Given the description of an element on the screen output the (x, y) to click on. 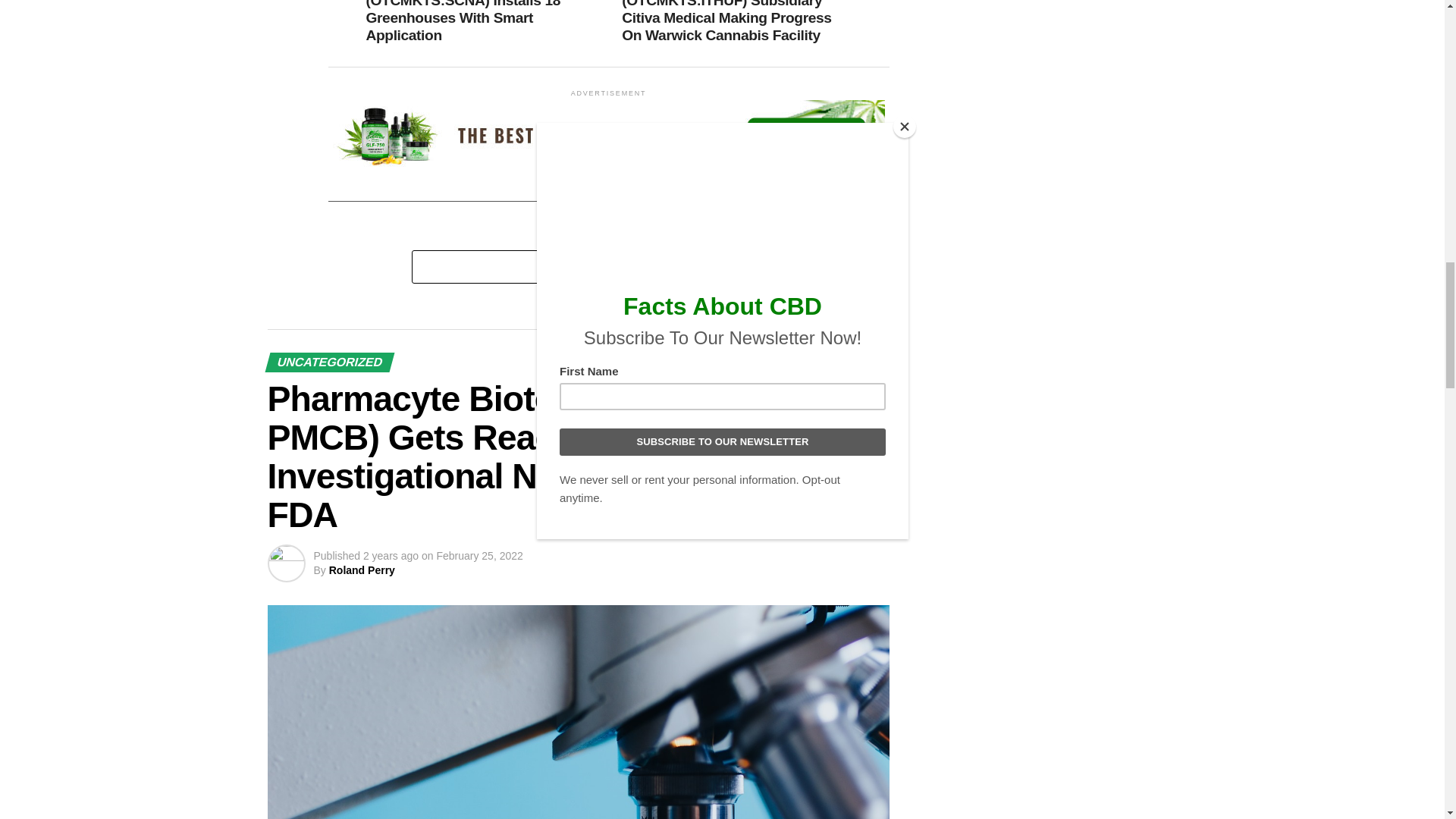
Posts by Roland Perry (361, 570)
Roland Perry (361, 570)
